Given the description of an element on the screen output the (x, y) to click on. 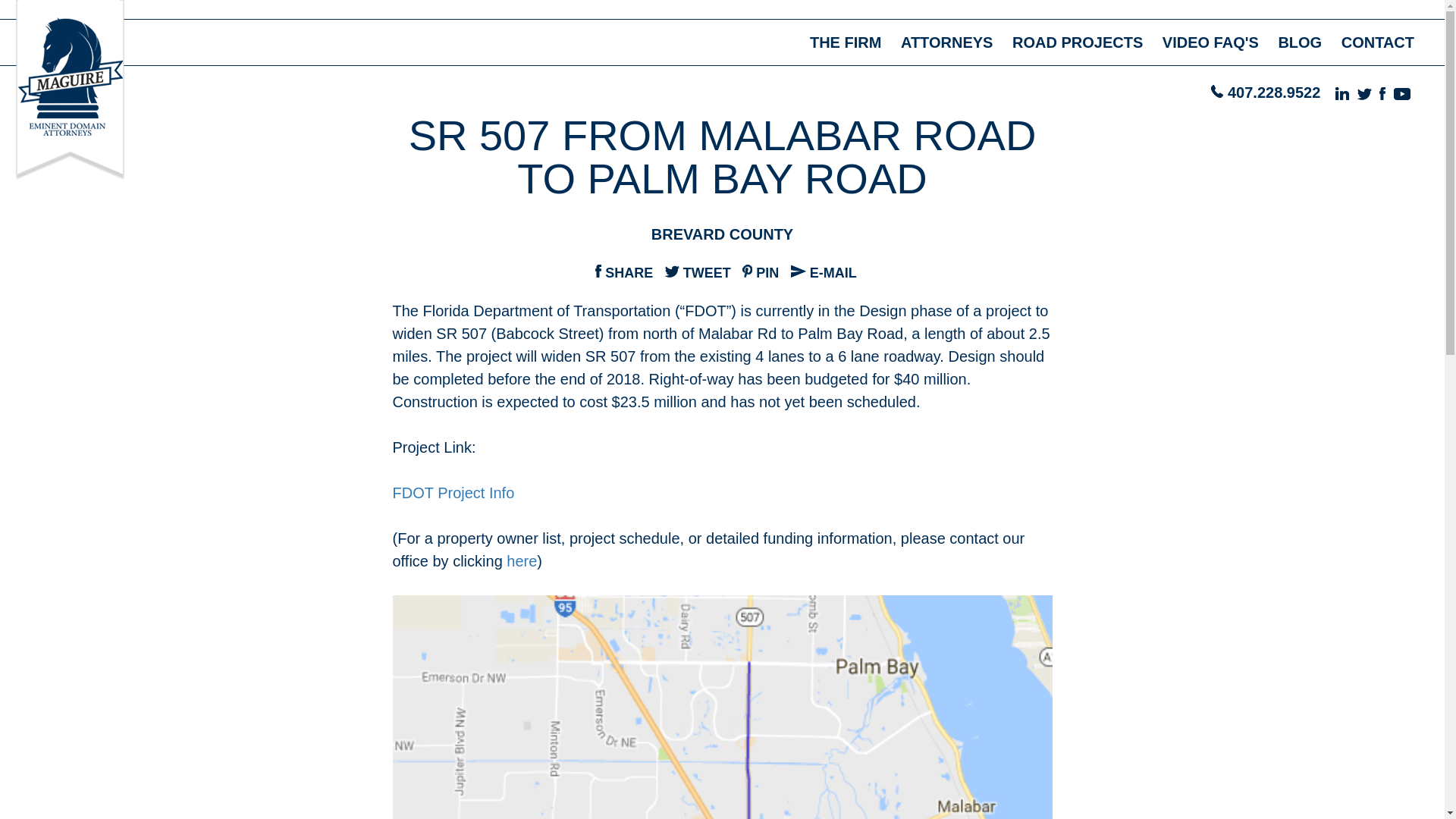
TWEET (697, 272)
FDOT Project Info (454, 492)
here (521, 560)
SHARE (623, 272)
THE FIRM (844, 42)
CONTACT (1376, 42)
E-MAIL (823, 272)
ATTORNEYS (946, 42)
ROAD PROJECTS (1076, 42)
PIN (760, 272)
